Given the description of an element on the screen output the (x, y) to click on. 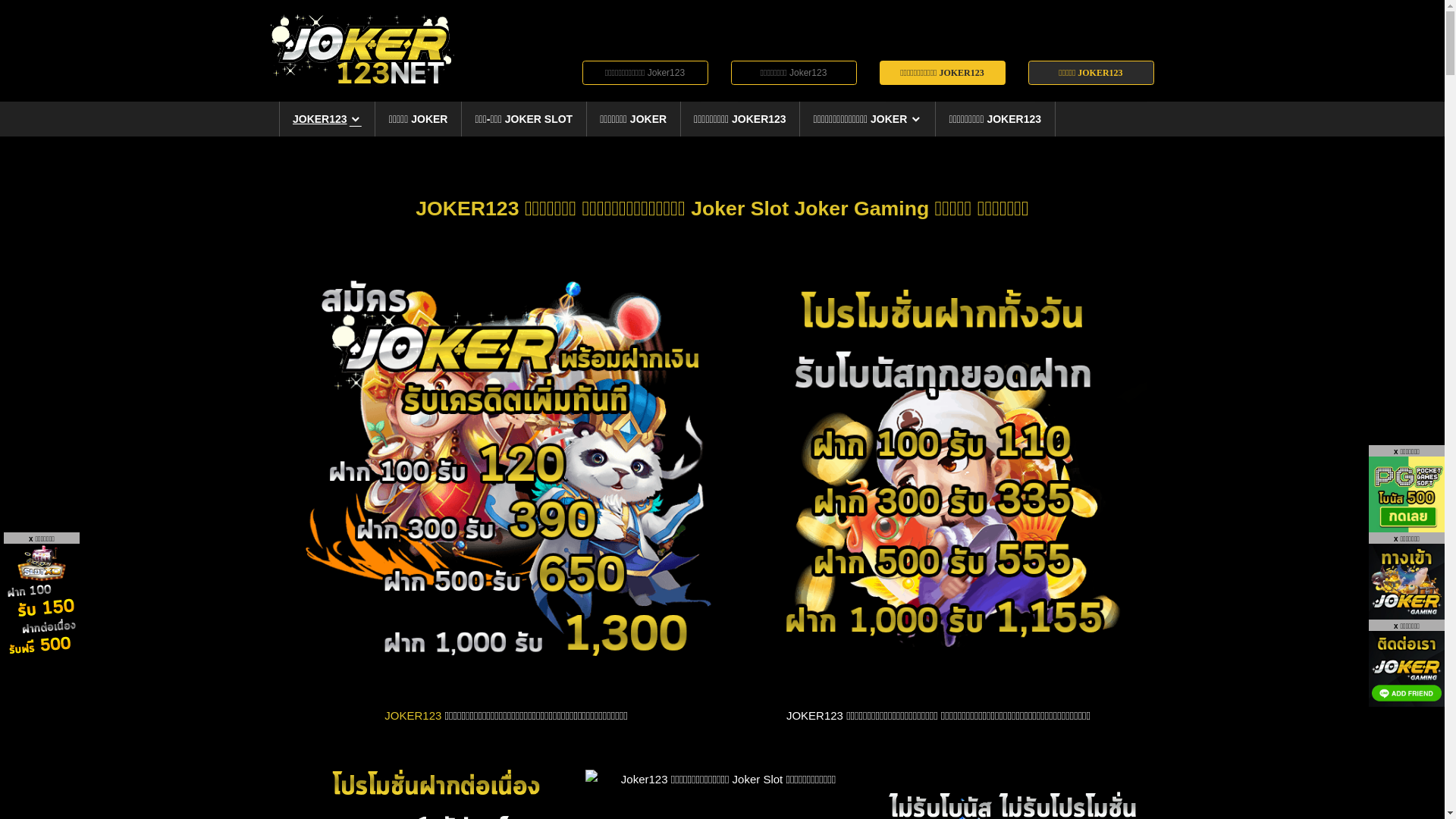
JOKER123 Element type: text (327, 118)
JOKER123 Element type: text (412, 715)
